Given the description of an element on the screen output the (x, y) to click on. 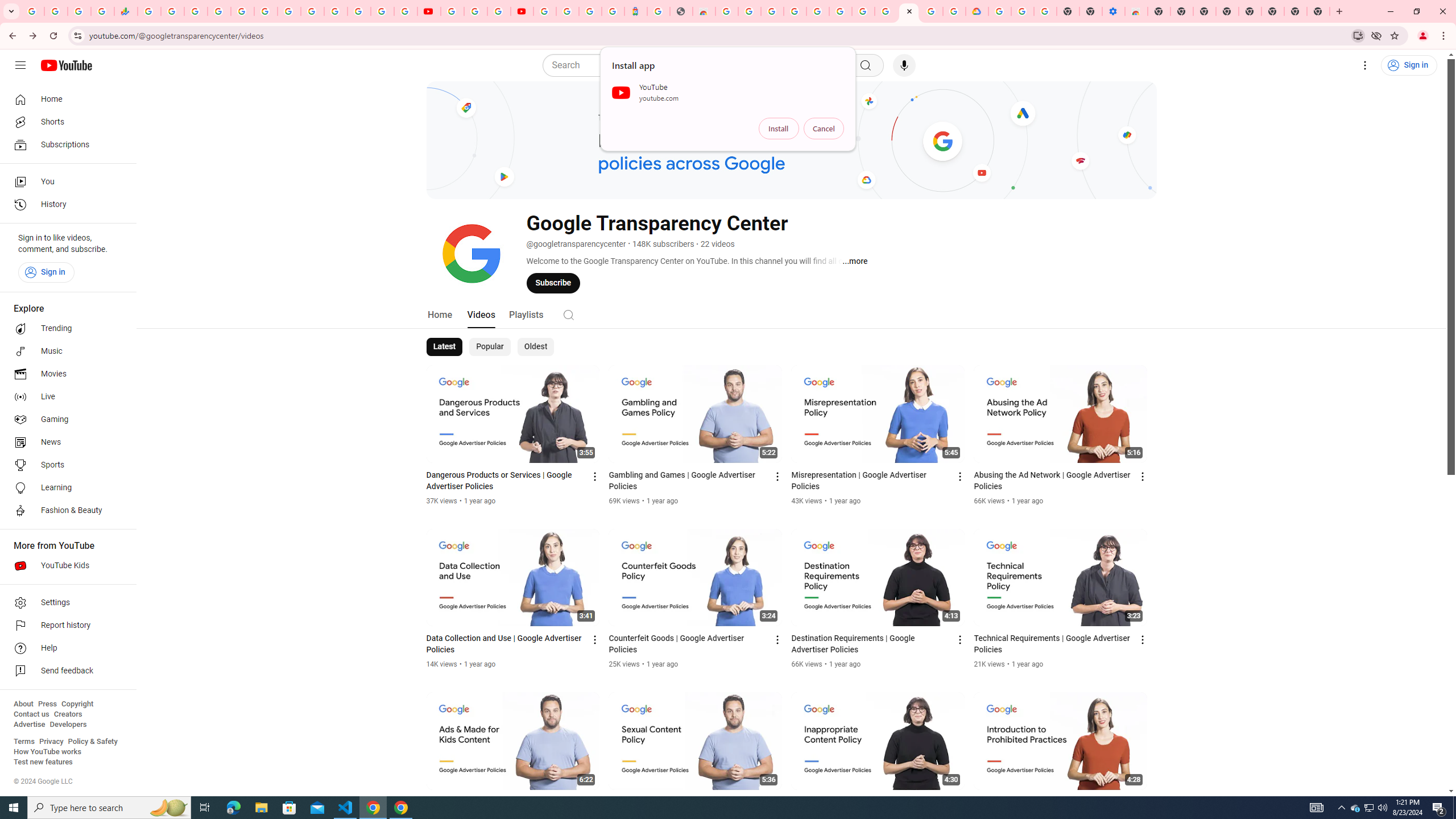
Google Account Help (475, 11)
Oldest (534, 346)
Trending (64, 328)
Gaming (64, 419)
Sign in - Google Accounts (567, 11)
Copyright (77, 703)
Google Workspace Admin Community (32, 11)
Android TV Policies and Guidelines - Transparency Center (885, 11)
History (64, 204)
Press (46, 703)
Contact us (31, 714)
